Given the description of an element on the screen output the (x, y) to click on. 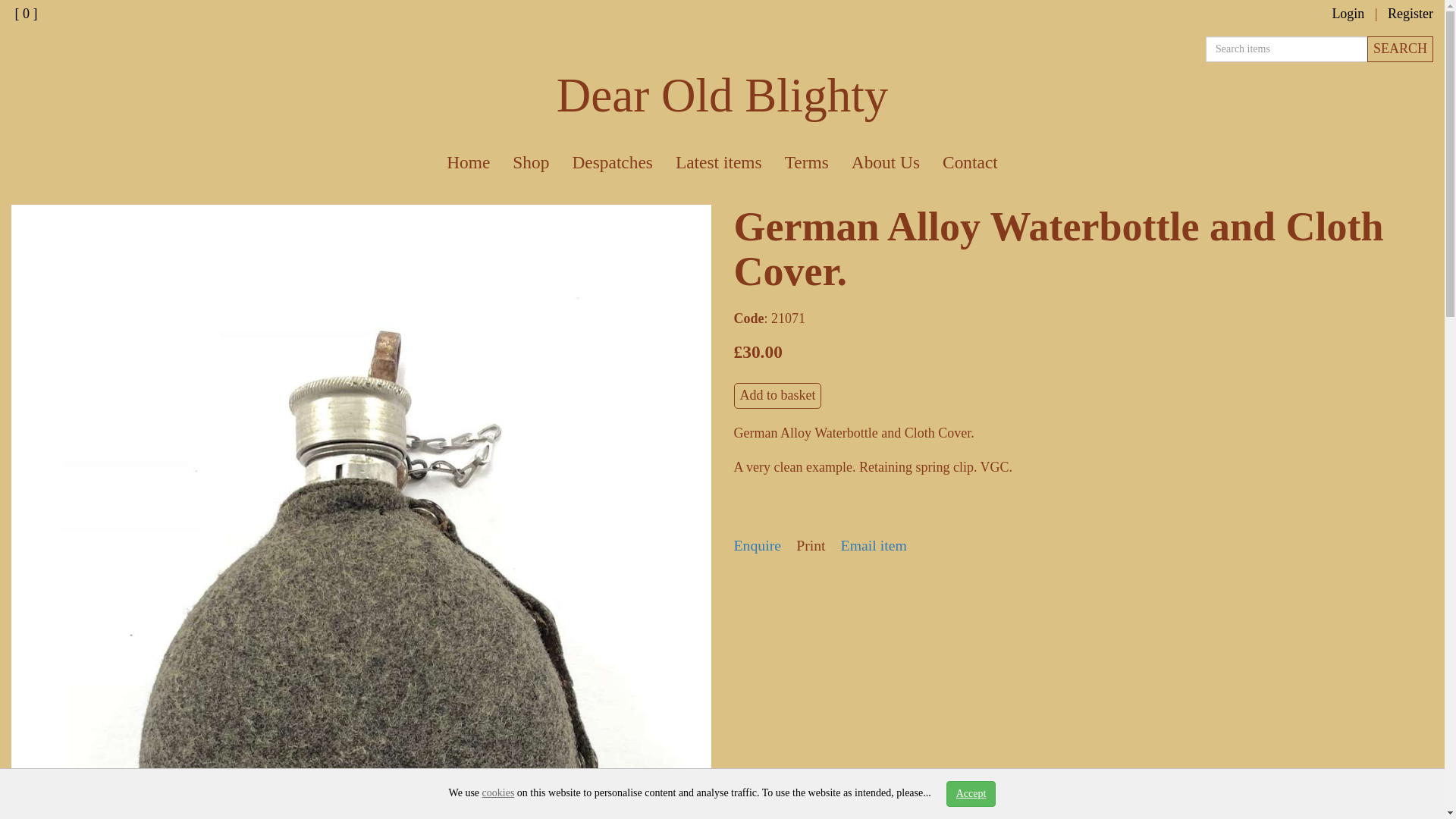
Add to basket (777, 395)
Register (1409, 13)
Contact (970, 161)
Dear Old Blighty (722, 95)
About Us (885, 161)
Login (1348, 13)
Print (810, 545)
Terms (806, 161)
Home (467, 161)
Despatches (611, 161)
Enquire (757, 545)
Email item (874, 545)
Shop (530, 161)
Latest items (718, 161)
SEARCH (1399, 49)
